Given the description of an element on the screen output the (x, y) to click on. 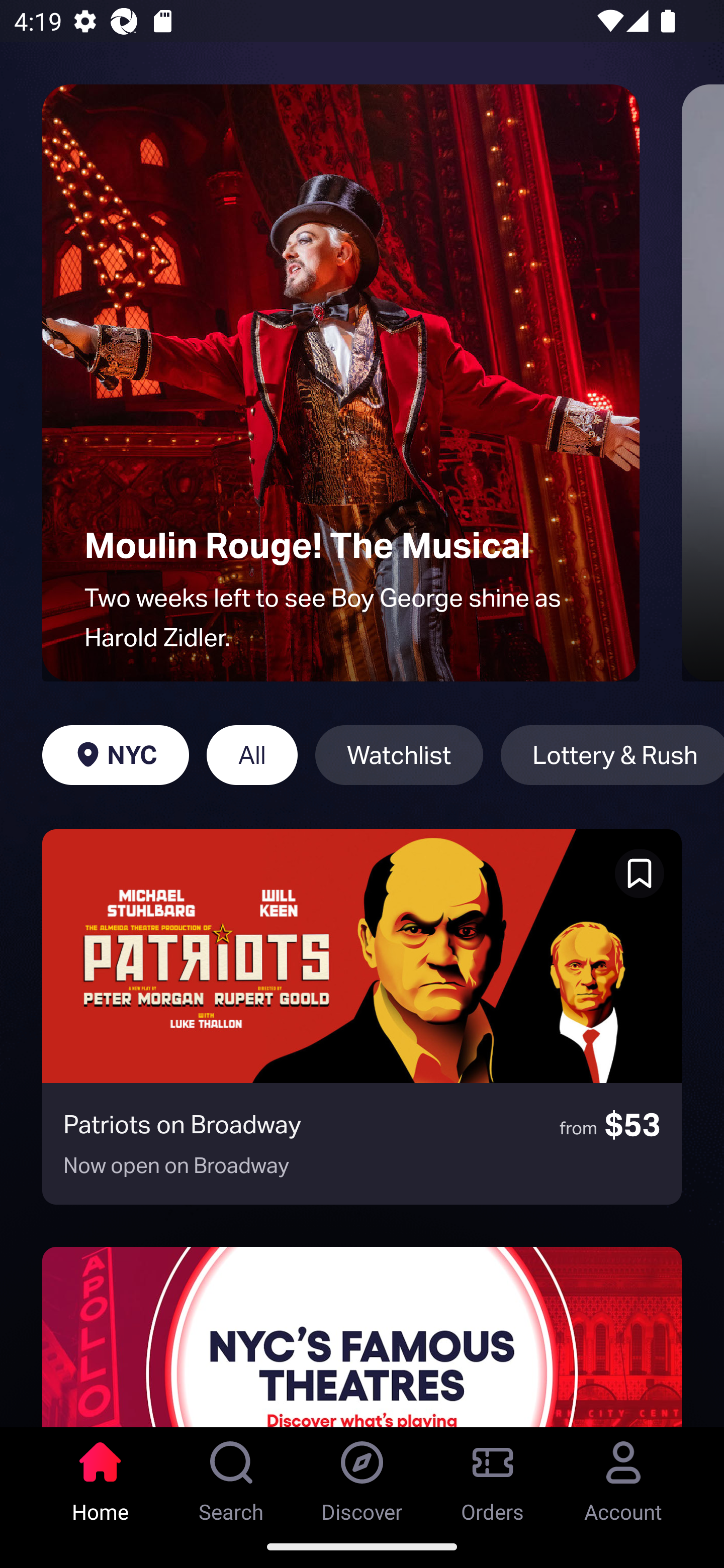
NYC (114, 754)
All (251, 754)
Watchlist (398, 754)
Lottery & Rush (612, 754)
Patriots on Broadway from $53 Now open on Broadway (361, 1016)
Search (230, 1475)
Discover (361, 1475)
Orders (492, 1475)
Account (623, 1475)
